Given the description of an element on the screen output the (x, y) to click on. 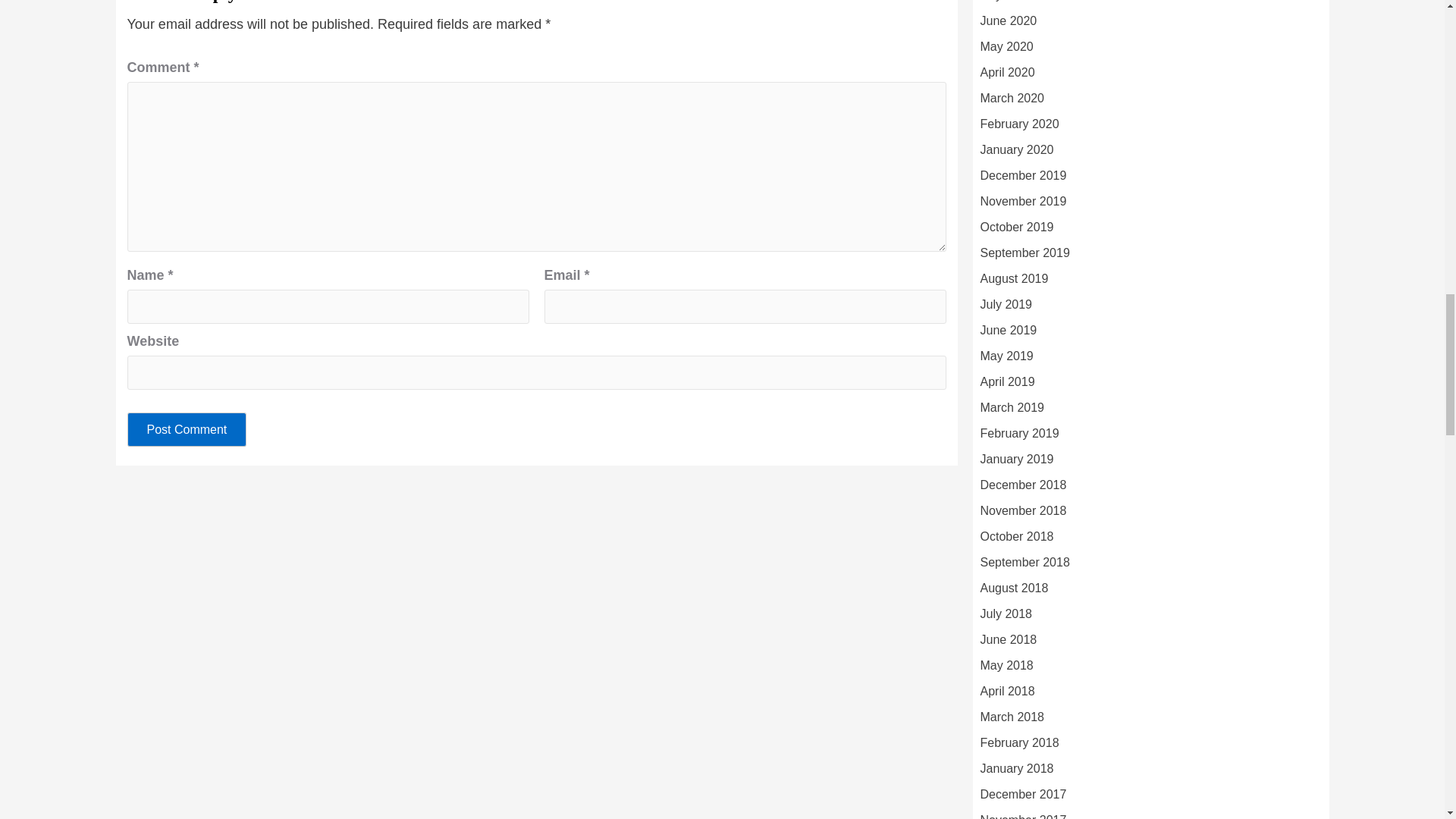
Post Comment (187, 429)
Post Comment (187, 429)
